Given the description of an element on the screen output the (x, y) to click on. 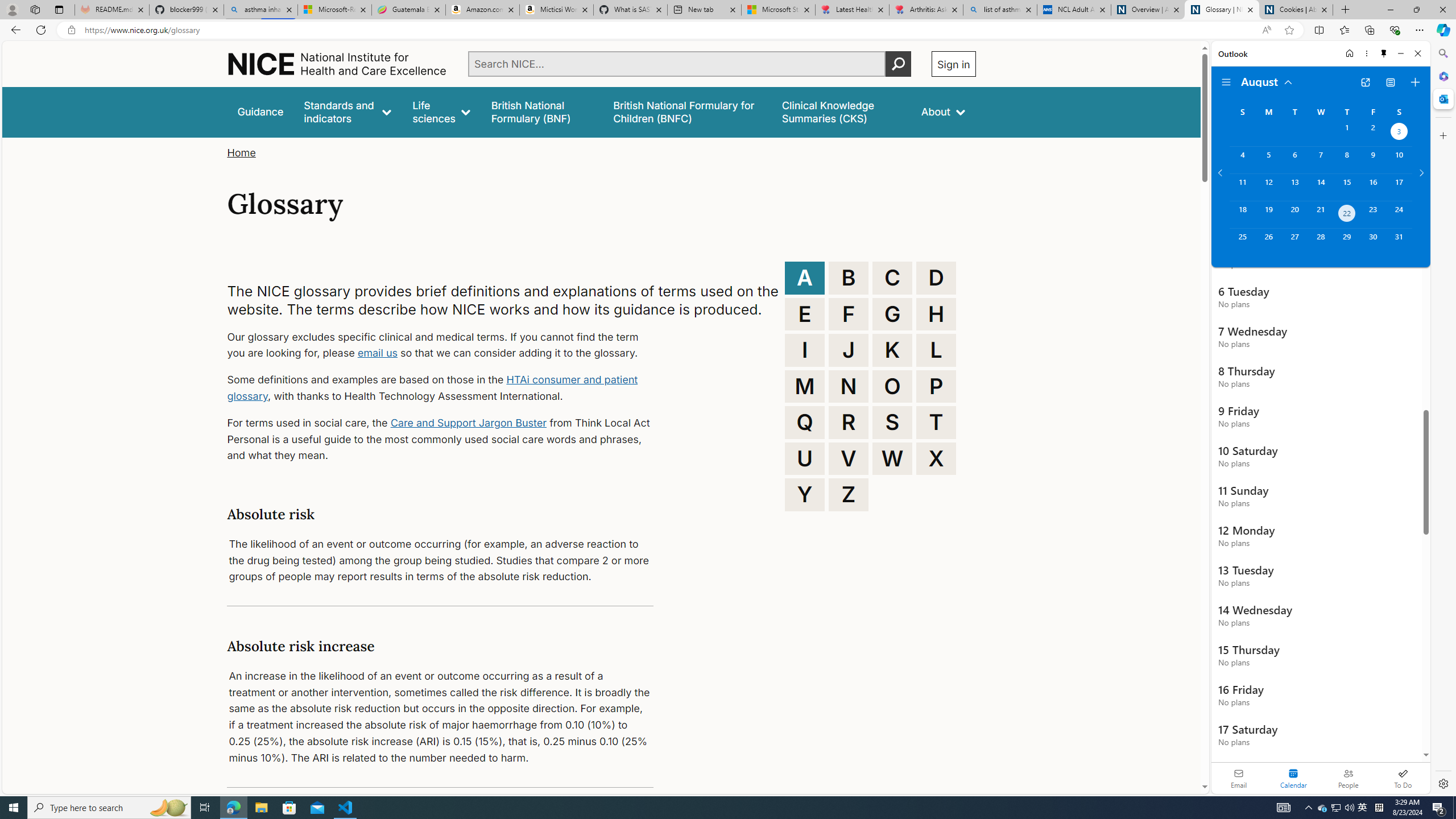
Saturday, August 31, 2024.  (1399, 241)
K (892, 350)
G (892, 313)
L (935, 350)
email us (376, 353)
Wednesday, August 14, 2024.  (1320, 186)
